Given the description of an element on the screen output the (x, y) to click on. 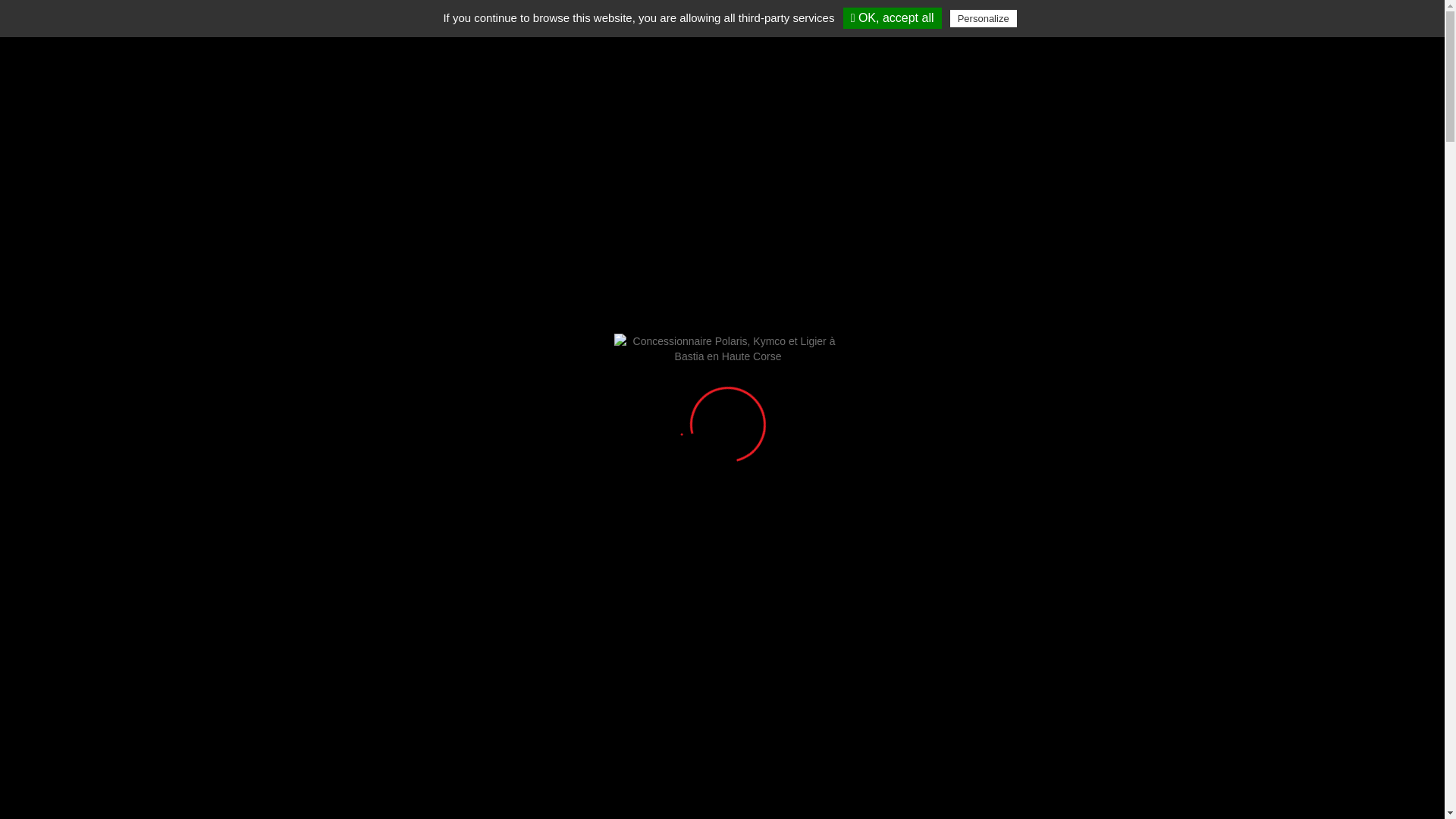
Pofo Element type: hover (95, 51)
Personalize Element type: text (983, 18)
MENU Element type: text (1369, 41)
